Given the description of an element on the screen output the (x, y) to click on. 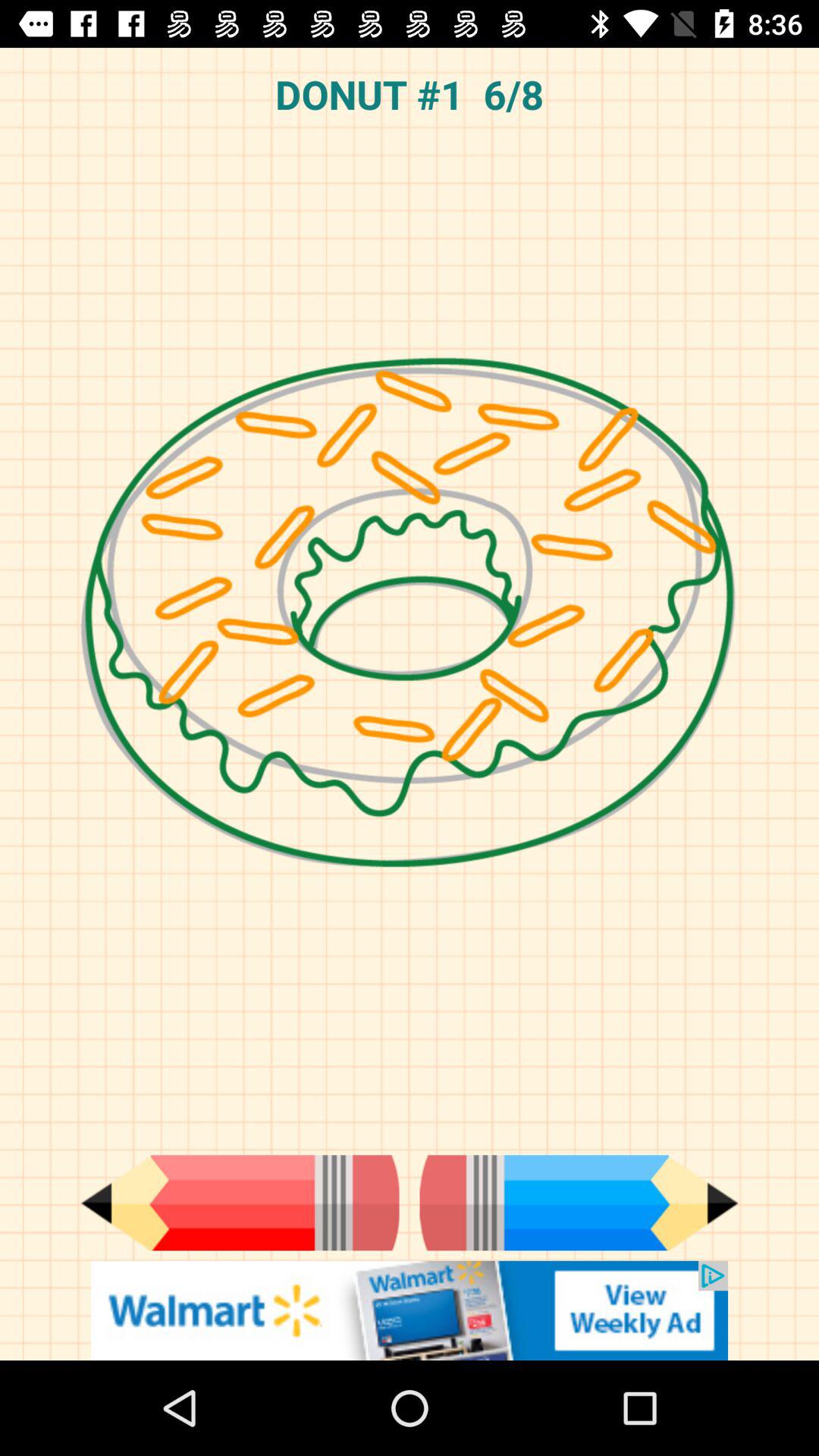
banner advertisement (409, 1310)
